Given the description of an element on the screen output the (x, y) to click on. 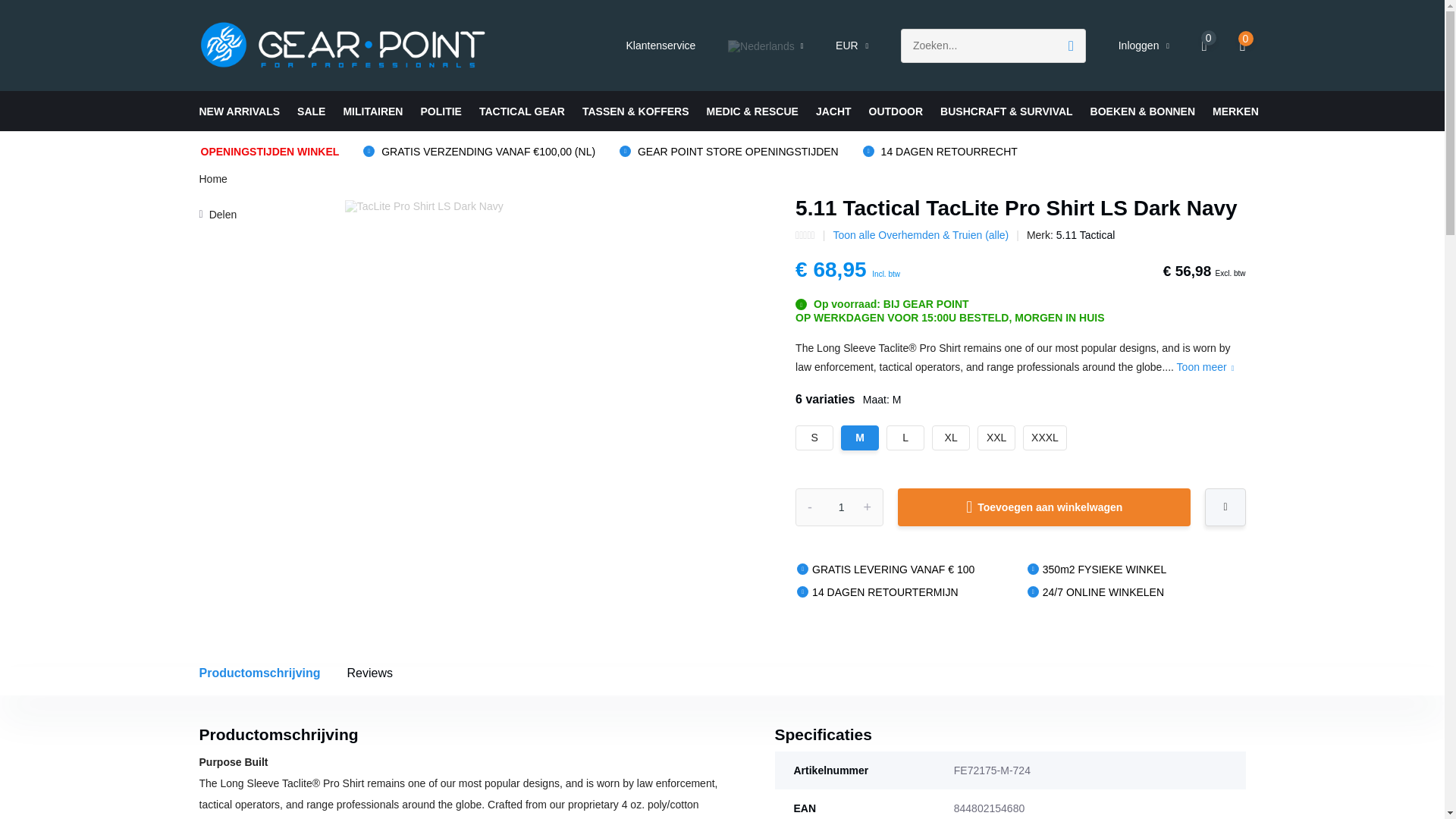
Klantenservice (660, 45)
Inloggen (1143, 45)
NEW ARRIVALS (238, 110)
MILITAIREN (372, 110)
NEW ARRIVALS (238, 110)
1 (839, 506)
MILITAIREN (1019, 445)
